Given the description of an element on the screen output the (x, y) to click on. 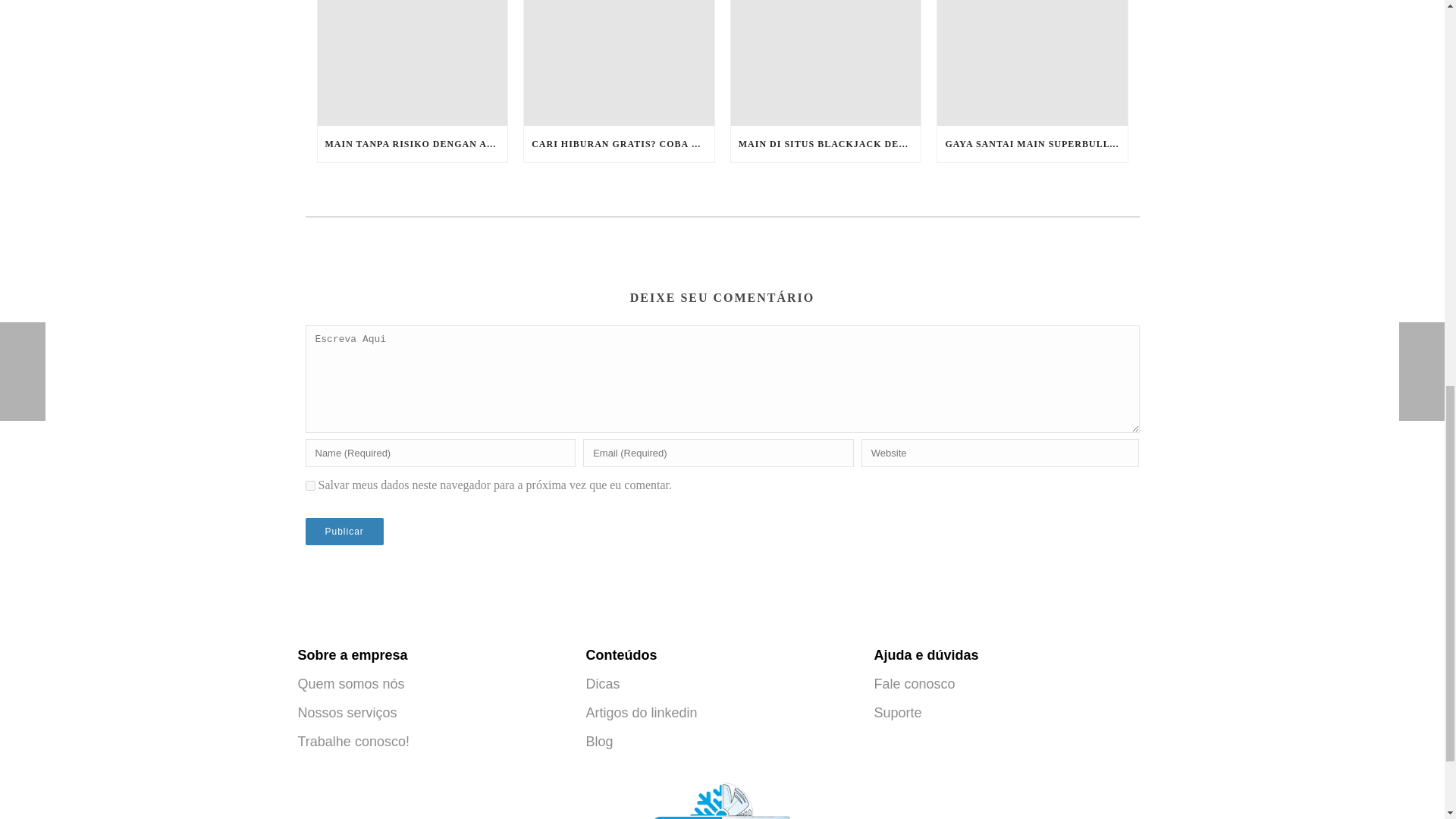
Cari Hiburan Gratis? Coba Main Slot Demo Mahjong! (619, 63)
Gaya Santai Main Superbull Online Tanpa Rugi (1031, 63)
Publicar (343, 531)
CARI HIBURAN GRATIS? COBA MAIN SLOT DEMO MAHJONG! (619, 144)
GAYA SANTAI MAIN SUPERBULL ONLINE TANPA RUGI (1031, 144)
yes (309, 485)
